Given the description of an element on the screen output the (x, y) to click on. 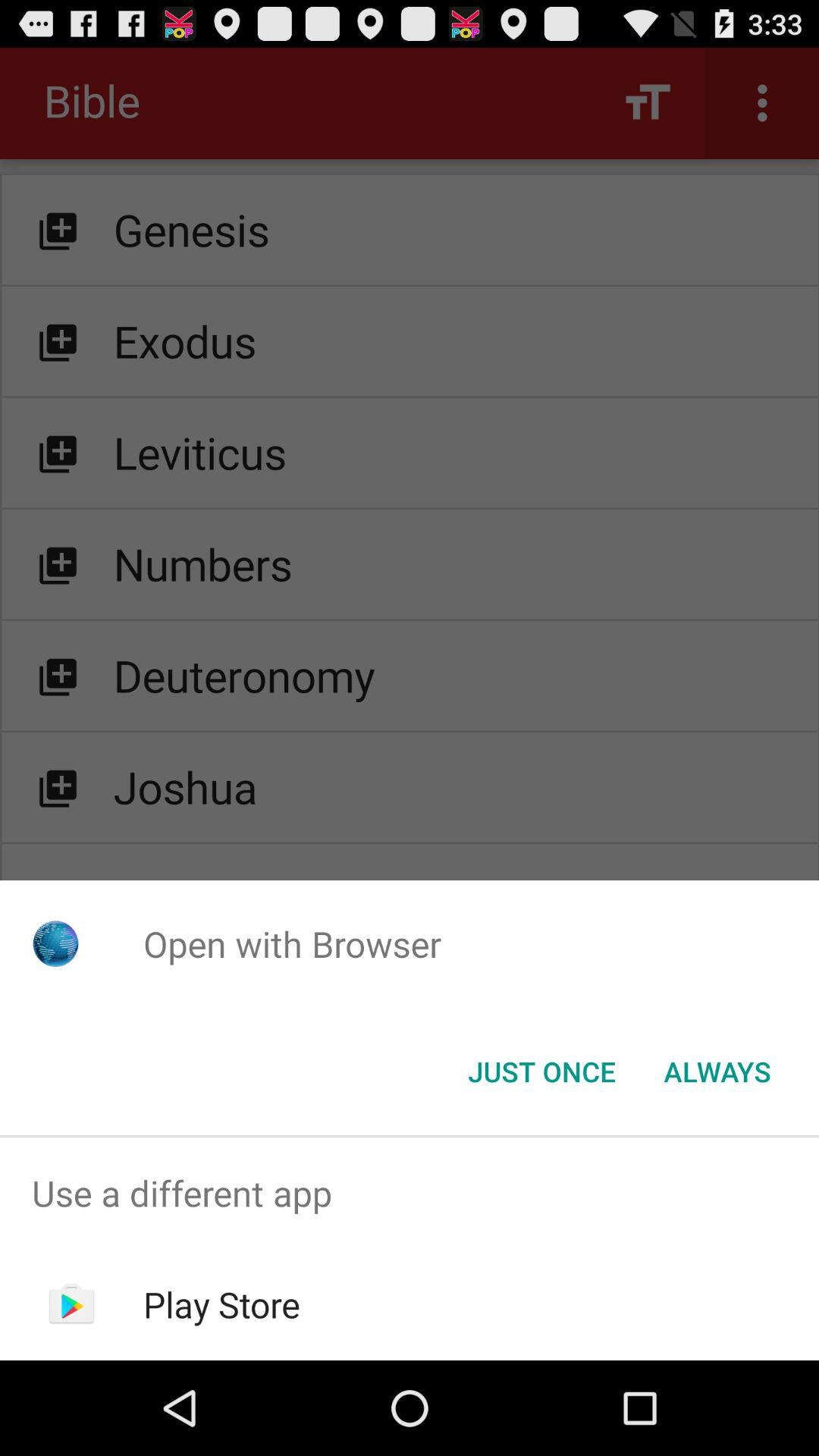
tap icon to the right of the just once (717, 1071)
